Given the description of an element on the screen output the (x, y) to click on. 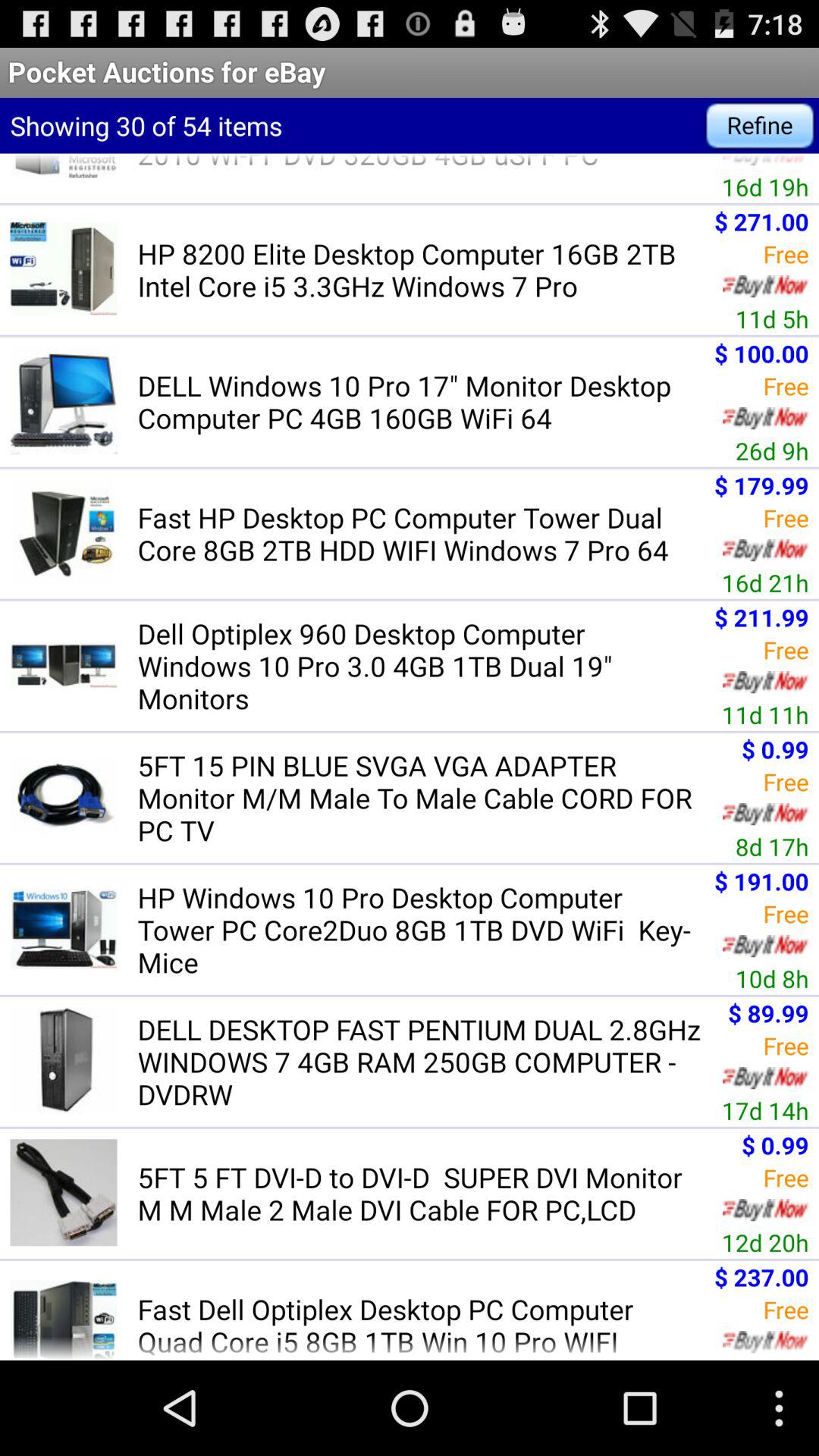
turn on the item below the 11d 11h icon (424, 797)
